Given the description of an element on the screen output the (x, y) to click on. 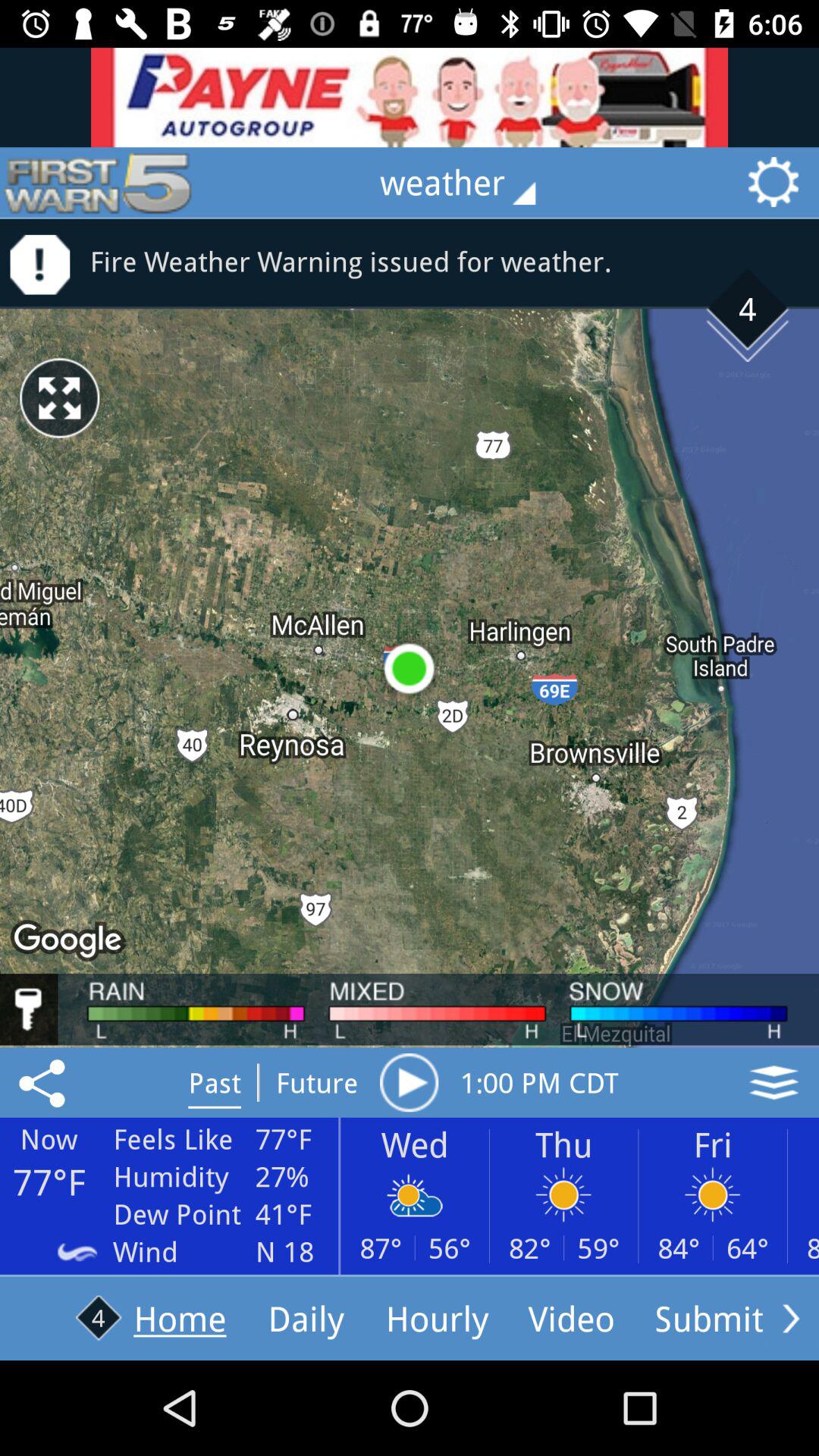
play forecast (409, 1082)
